Given the description of an element on the screen output the (x, y) to click on. 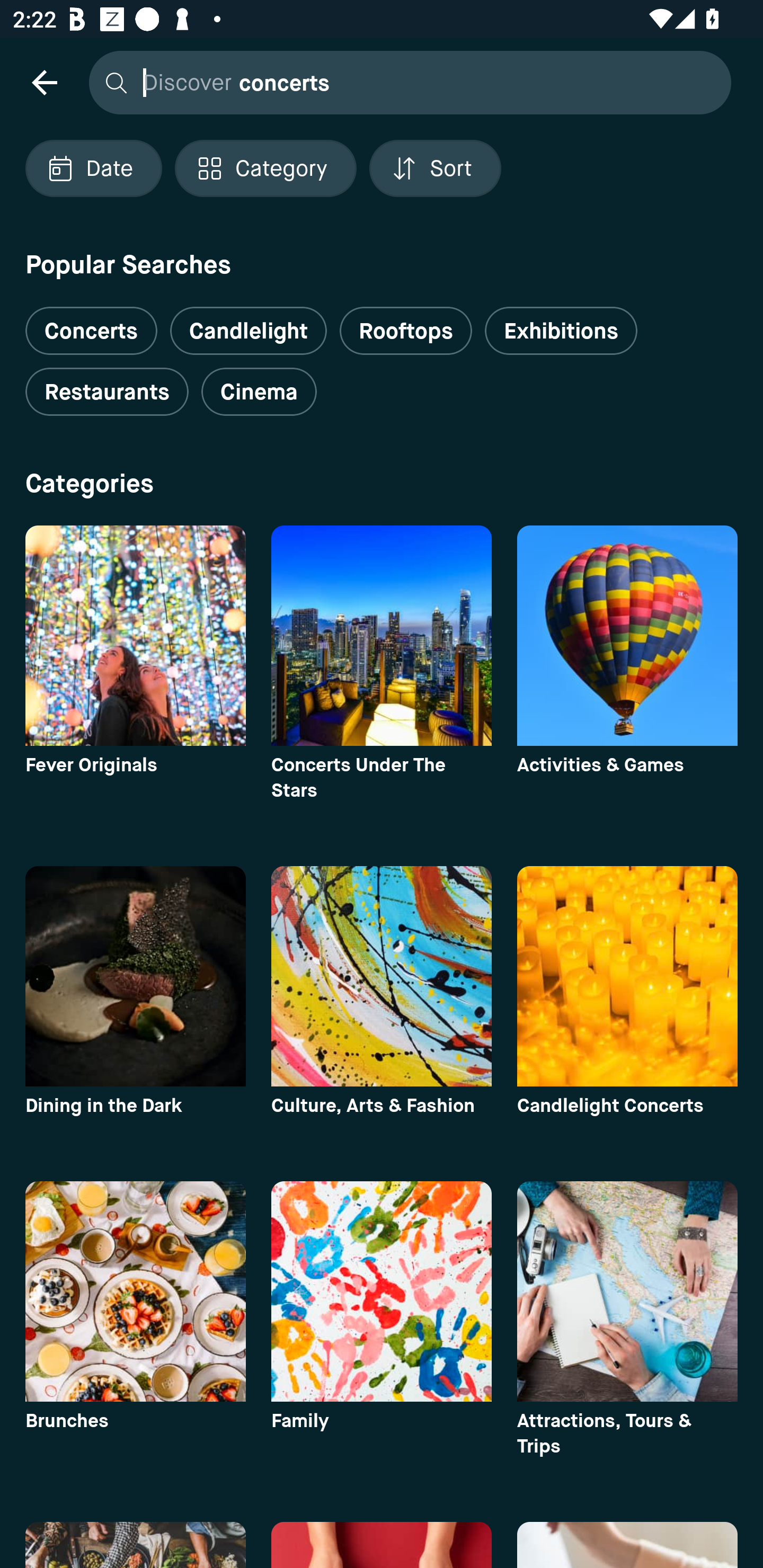
navigation icon (44, 81)
Discover concerts (405, 81)
Localized description Date (93, 168)
Localized description Category (265, 168)
Localized description Sort (435, 168)
Concerts (91, 323)
Candlelight (248, 330)
Rooftops (405, 330)
Exhibitions (560, 330)
Restaurants (106, 391)
Cinema (258, 391)
category image (135, 635)
category image (381, 635)
category image (627, 635)
category image (135, 975)
category image (381, 975)
category image (627, 975)
category image (135, 1290)
category image (381, 1290)
category image (627, 1290)
